Given the description of an element on the screen output the (x, y) to click on. 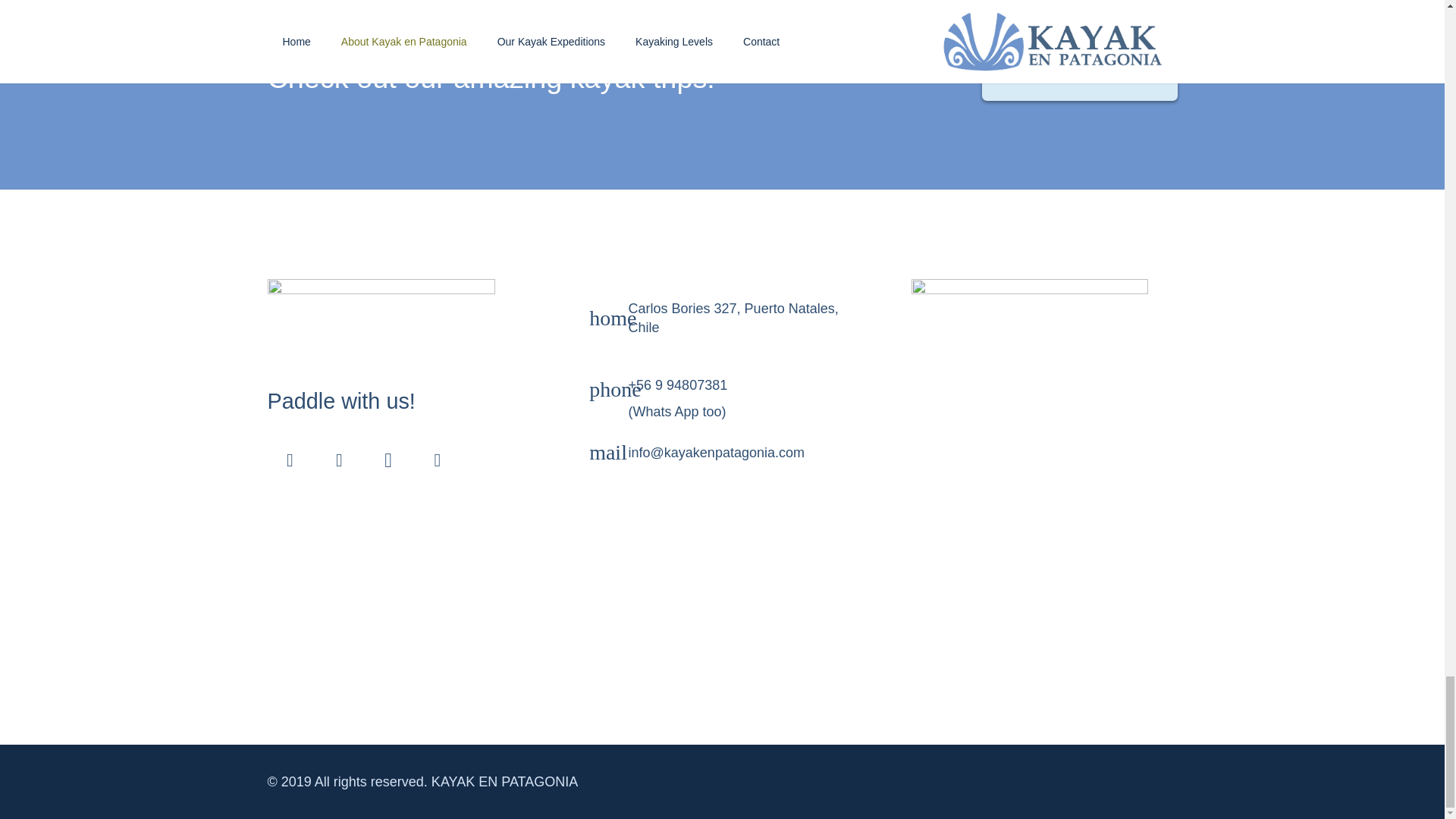
WhatsApp (437, 460)
Facebook (289, 460)
Our Trips (1079, 77)
starGO TO TRIPS (1079, 77)
Instagram (387, 460)
Tripadvisor (338, 460)
